Given the description of an element on the screen output the (x, y) to click on. 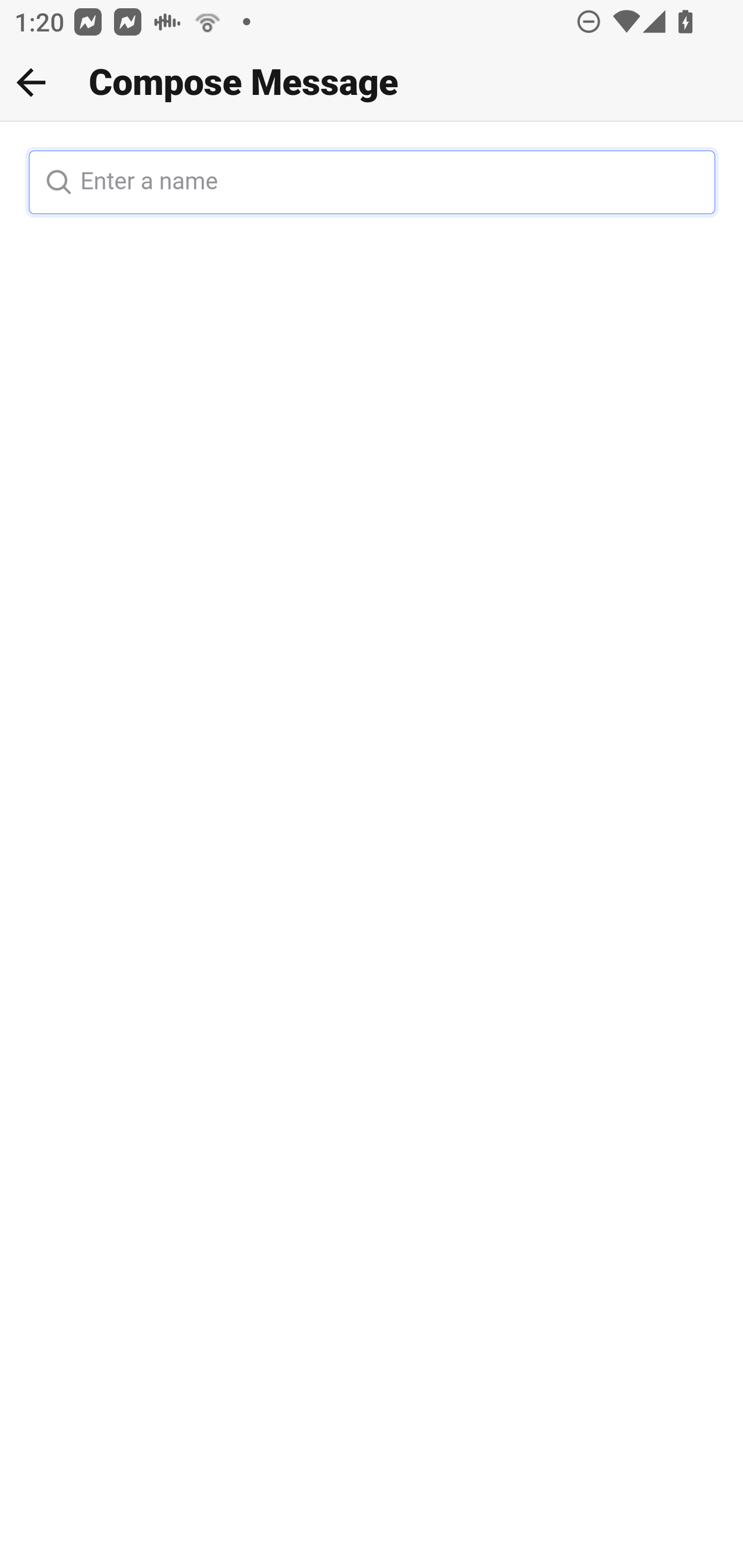
Back Compose Message (371, 82)
Back (30, 82)
